Given the description of an element on the screen output the (x, y) to click on. 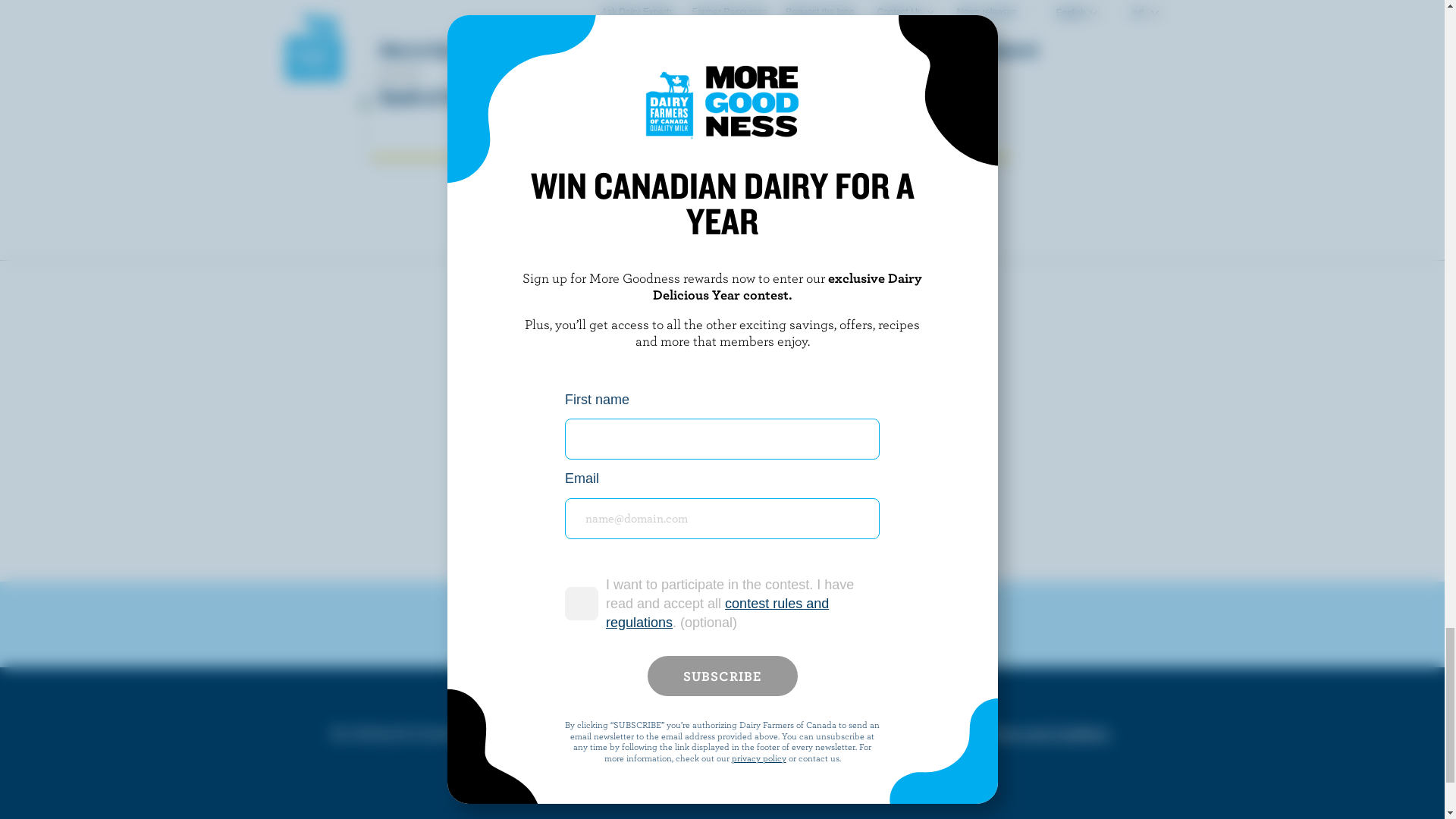
Subscribe (879, 409)
